Given the description of an element on the screen output the (x, y) to click on. 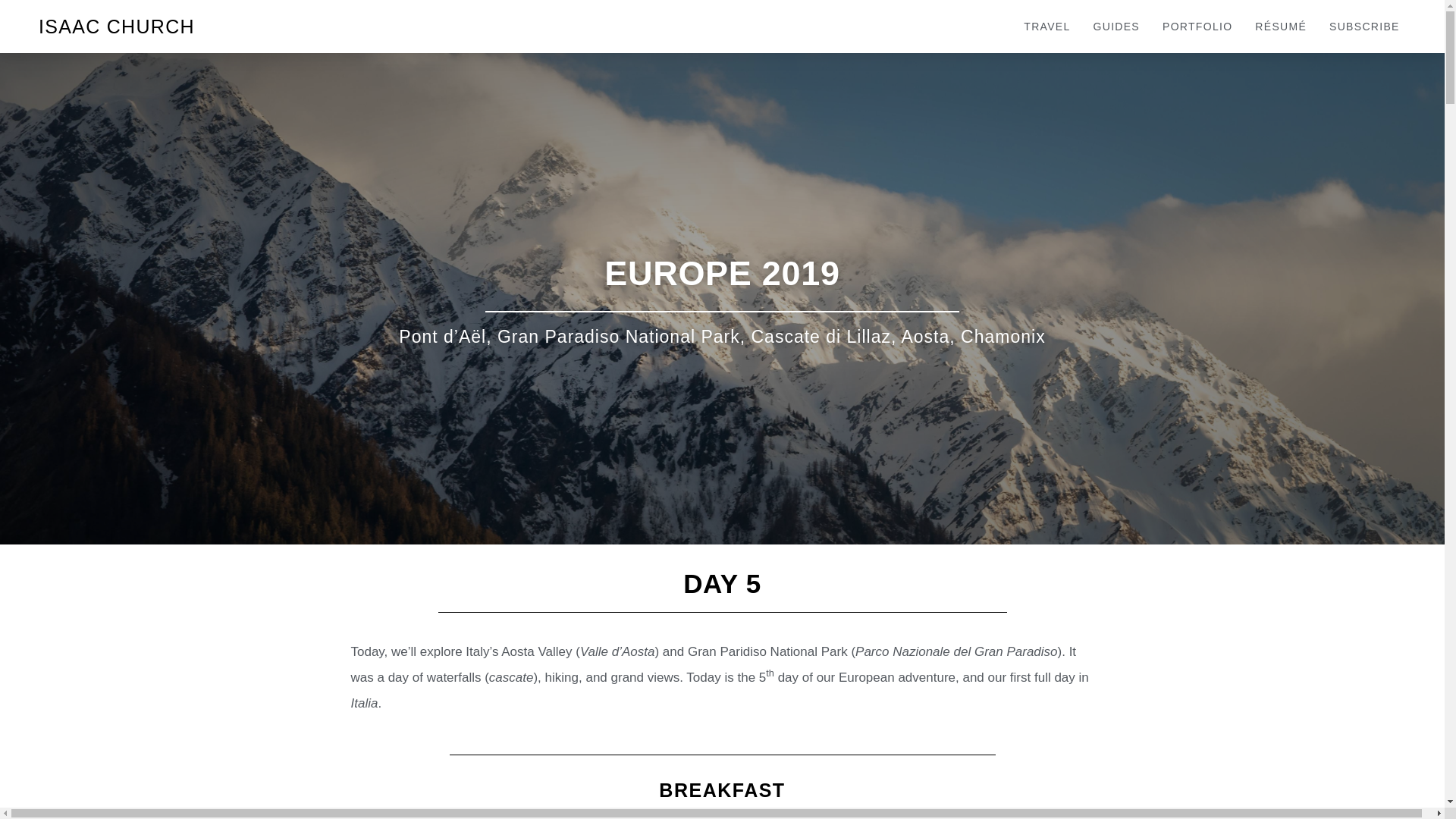
ISAAC CHURCH (117, 25)
PORTFOLIO (1197, 26)
GUIDES (1116, 26)
TRAVEL (1046, 26)
SUBSCRIBE (1363, 26)
